Given the description of an element on the screen output the (x, y) to click on. 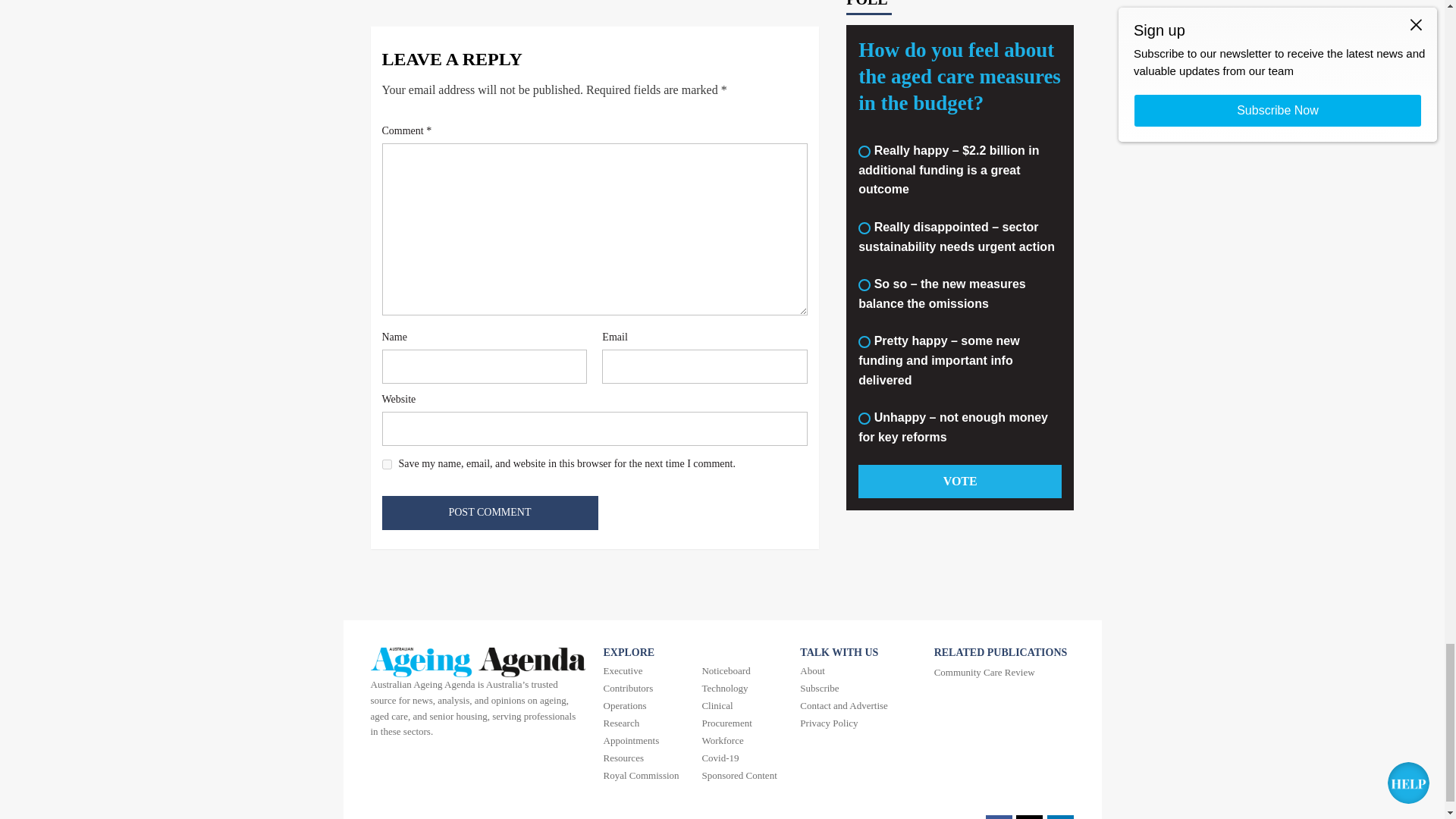
yes (386, 464)
Post Comment (489, 512)
